Given the description of an element on the screen output the (x, y) to click on. 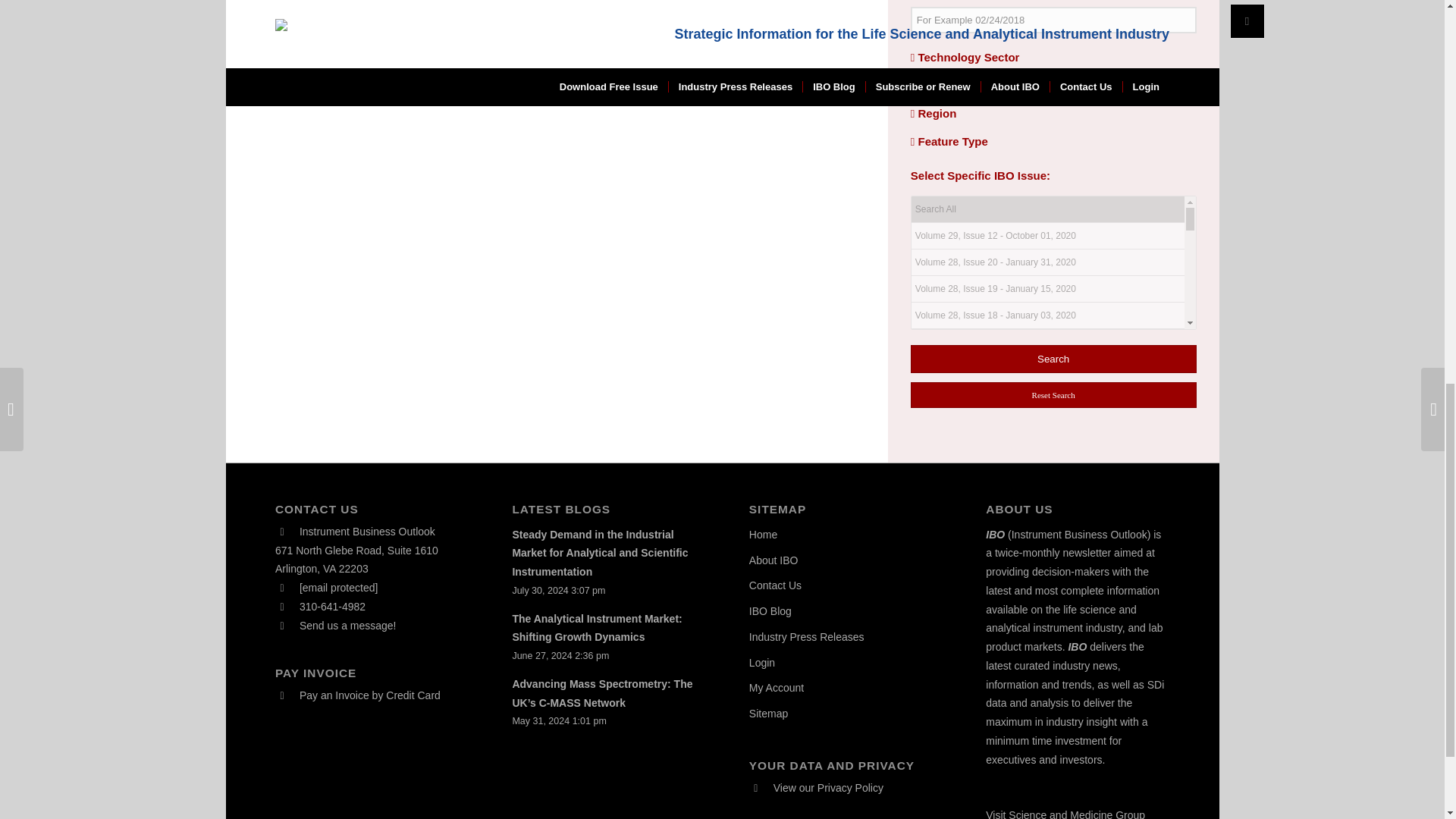
Region (933, 113)
Feature Type (949, 141)
The Analytical Instrument Market: Shifting Growth Dynamics (596, 627)
